Given the description of an element on the screen output the (x, y) to click on. 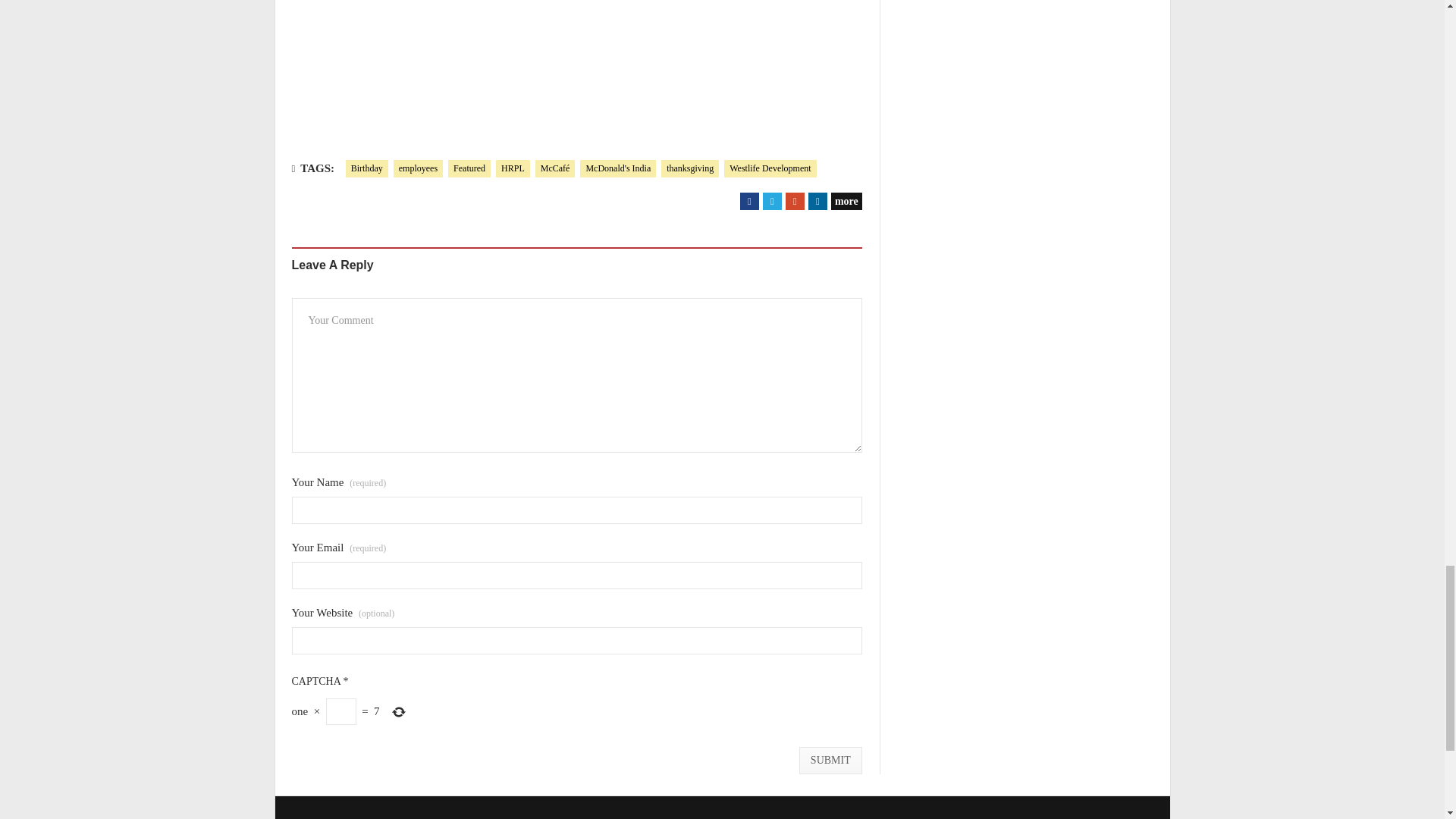
McDonald's Thanksgiving Week (571, 63)
employees (417, 168)
Twitter (771, 200)
Submit (830, 759)
Facebook (748, 200)
Featured (469, 168)
Birthday (367, 168)
McDonald's India (617, 168)
more (846, 200)
HRPL (512, 168)
thanksgiving (690, 168)
Westlife Development (769, 168)
LinkedIn (817, 200)
